Given the description of an element on the screen output the (x, y) to click on. 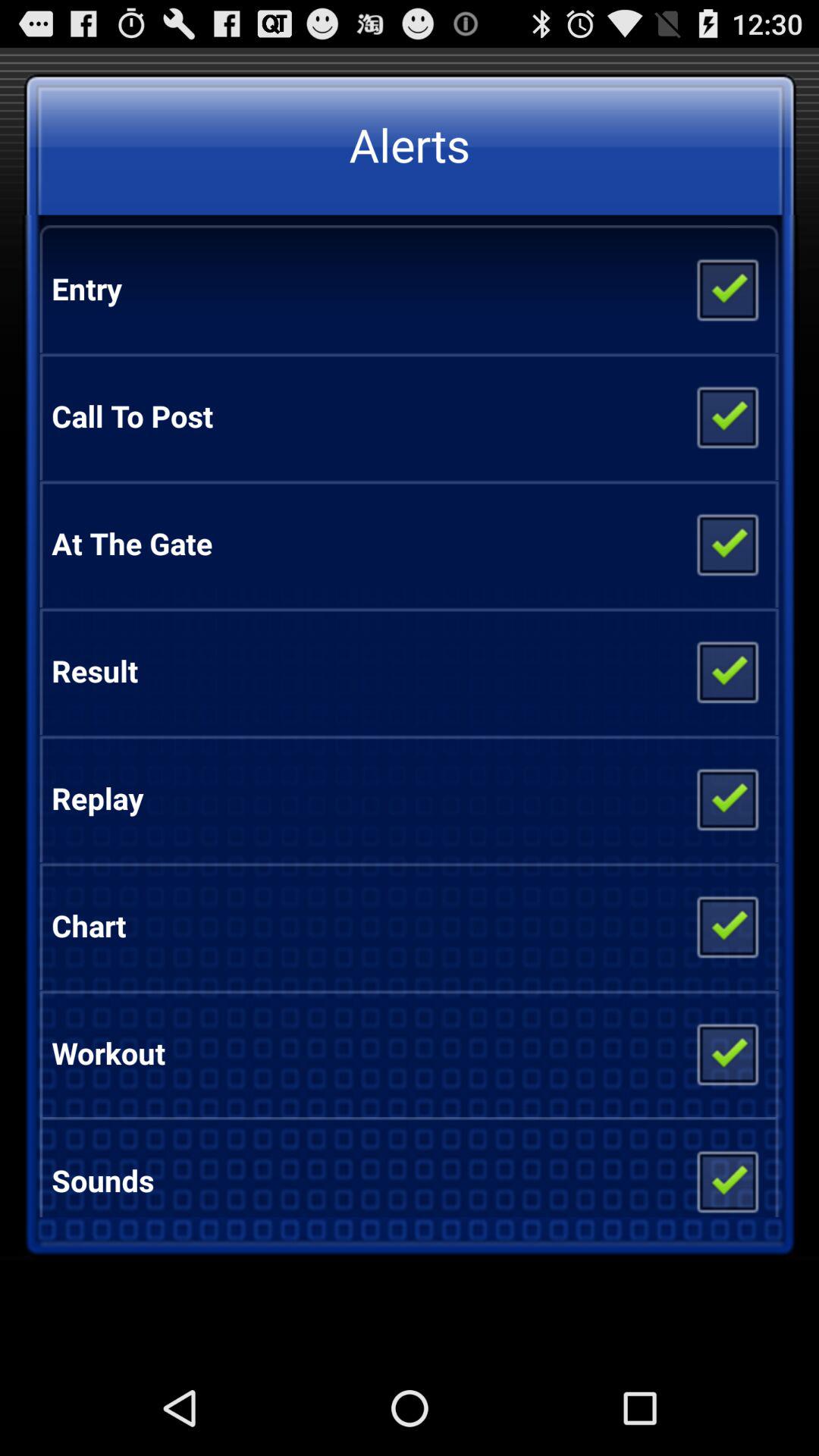
select option (726, 798)
